Given the description of an element on the screen output the (x, y) to click on. 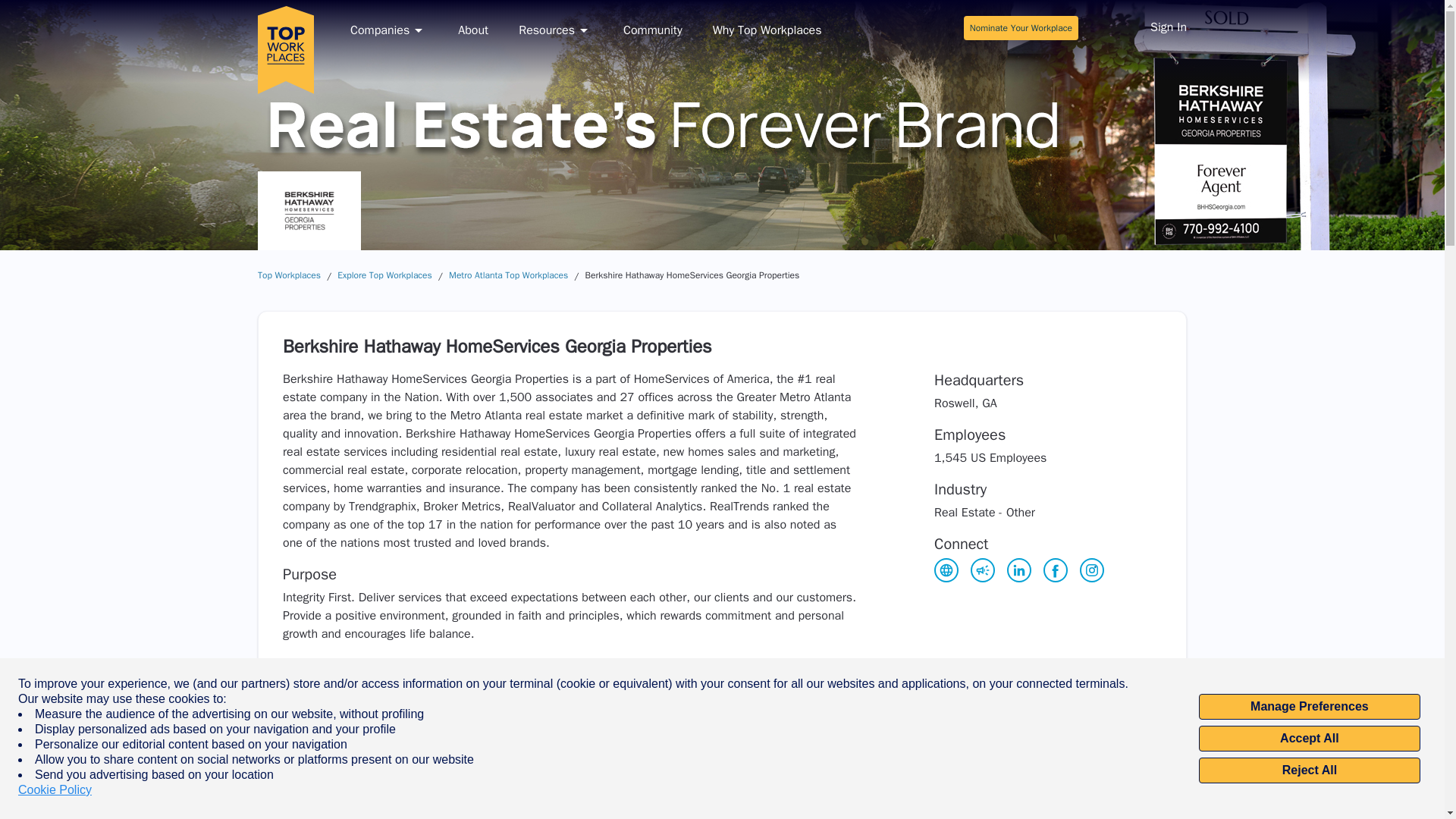
Explore Top Workplaces (384, 275)
Resources (555, 30)
Sign In (1168, 28)
Companies (389, 30)
Community (652, 30)
Top Workplaces (288, 275)
Metro Atlanta Top Workplaces (507, 275)
Why Top Workplaces (767, 30)
Accept All (1309, 738)
Reject All (1309, 769)
About (472, 30)
Cookie Policy (54, 789)
Nominate Your Workplace (1020, 27)
Manage Preferences (1309, 706)
